Given the description of an element on the screen output the (x, y) to click on. 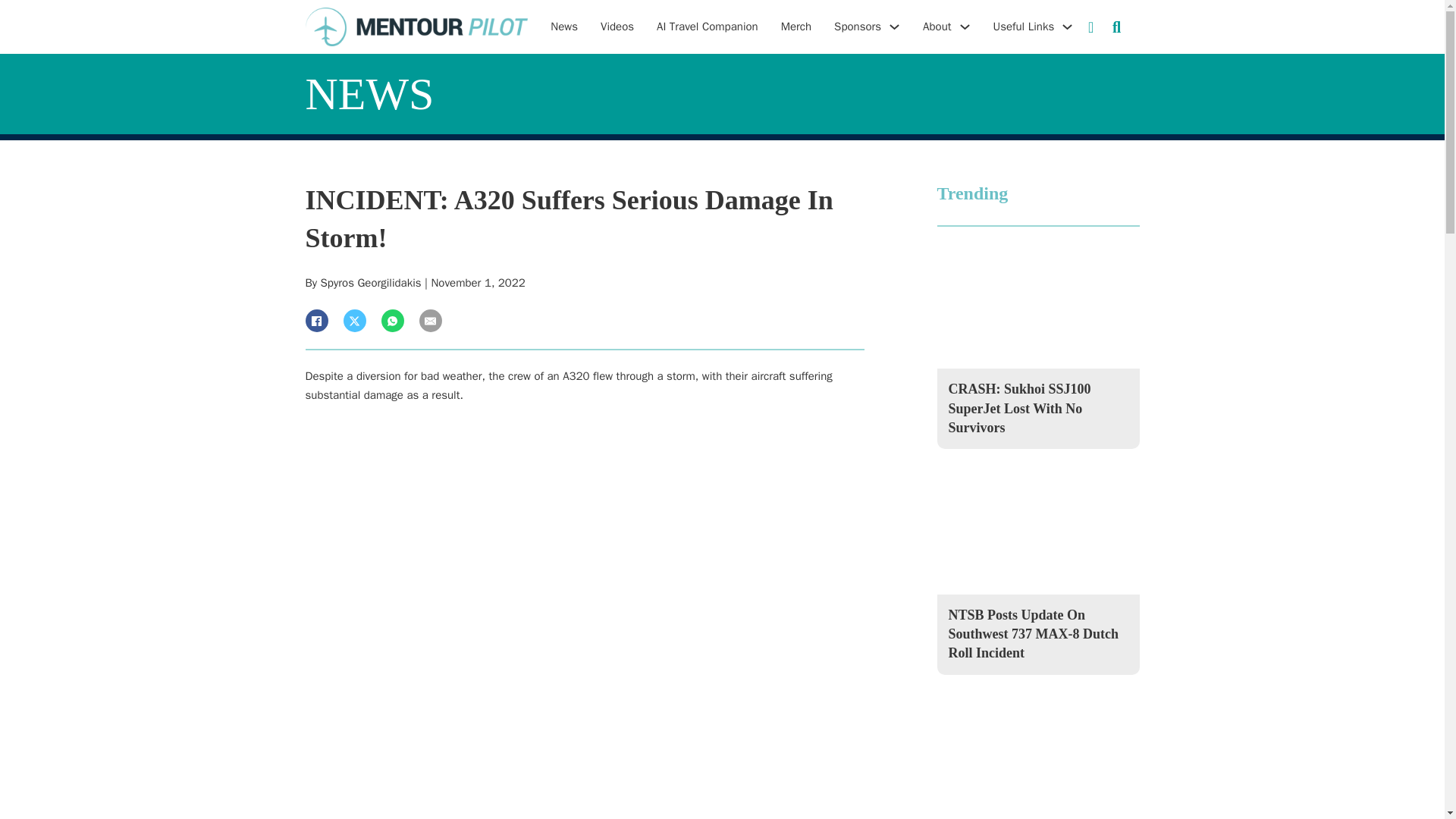
Sponsors (857, 26)
About (936, 26)
Useful Links (1023, 26)
News (564, 26)
AI Travel Companion (707, 26)
Videos (616, 26)
Merch (795, 26)
